Given the description of an element on the screen output the (x, y) to click on. 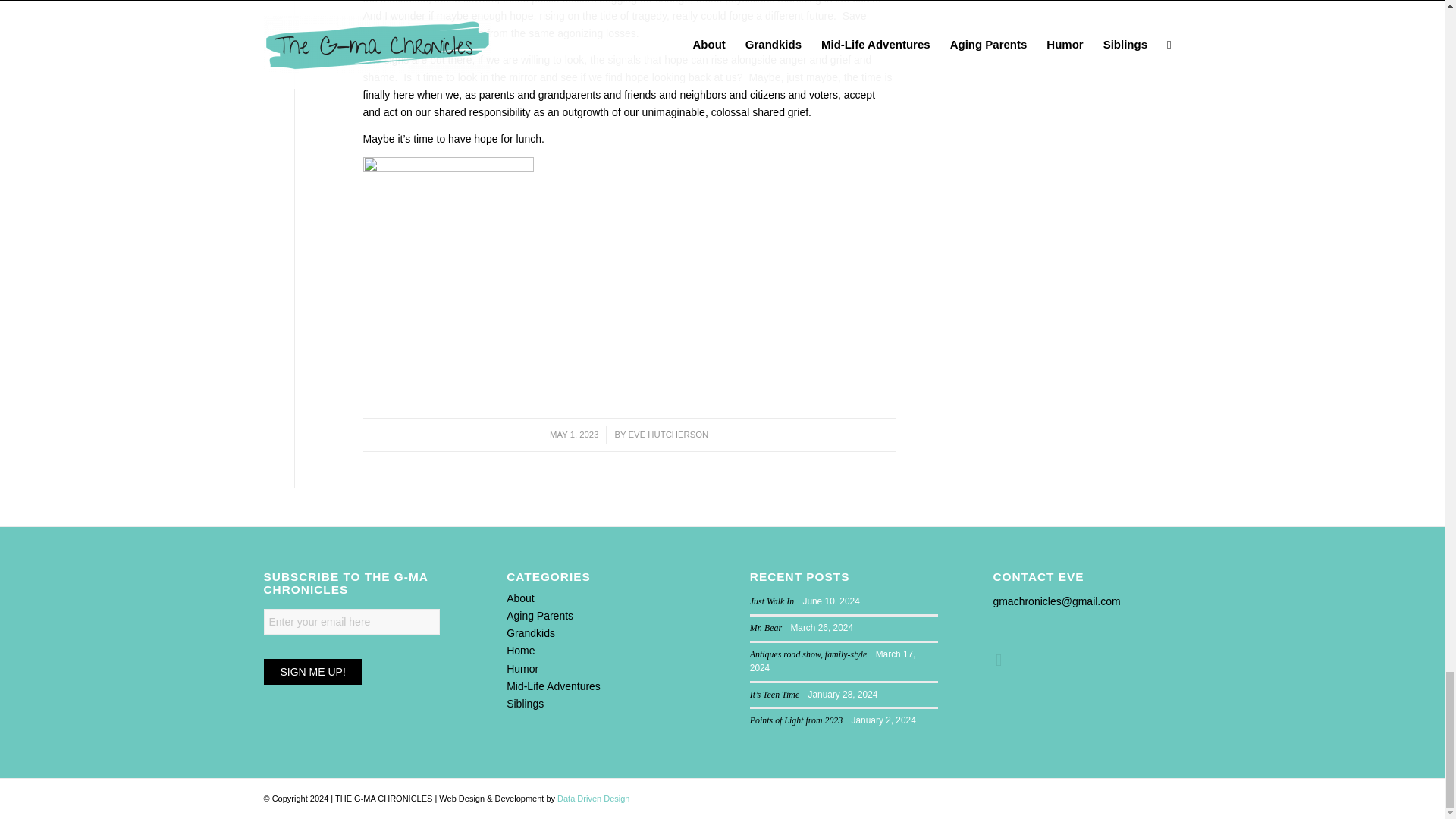
EVE HUTCHERSON (668, 433)
SIGN ME UP! (312, 671)
Posts by Eve Hutcherson (668, 433)
